Given the description of an element on the screen output the (x, y) to click on. 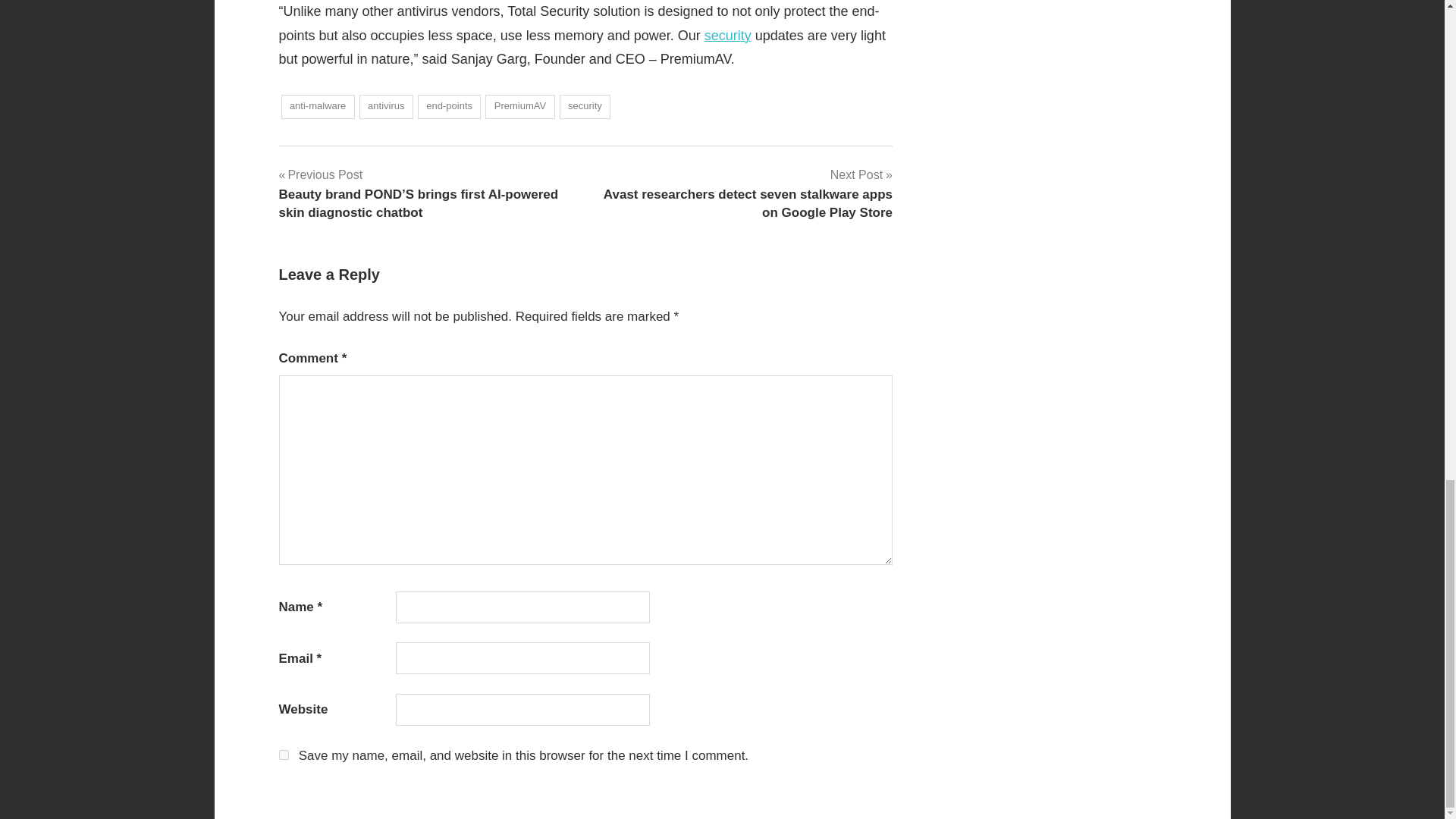
antivirus (386, 107)
anti-malware (317, 107)
security (727, 35)
security (585, 107)
end-points (449, 107)
yes (283, 755)
PremiumAV (519, 107)
